Given the description of an element on the screen output the (x, y) to click on. 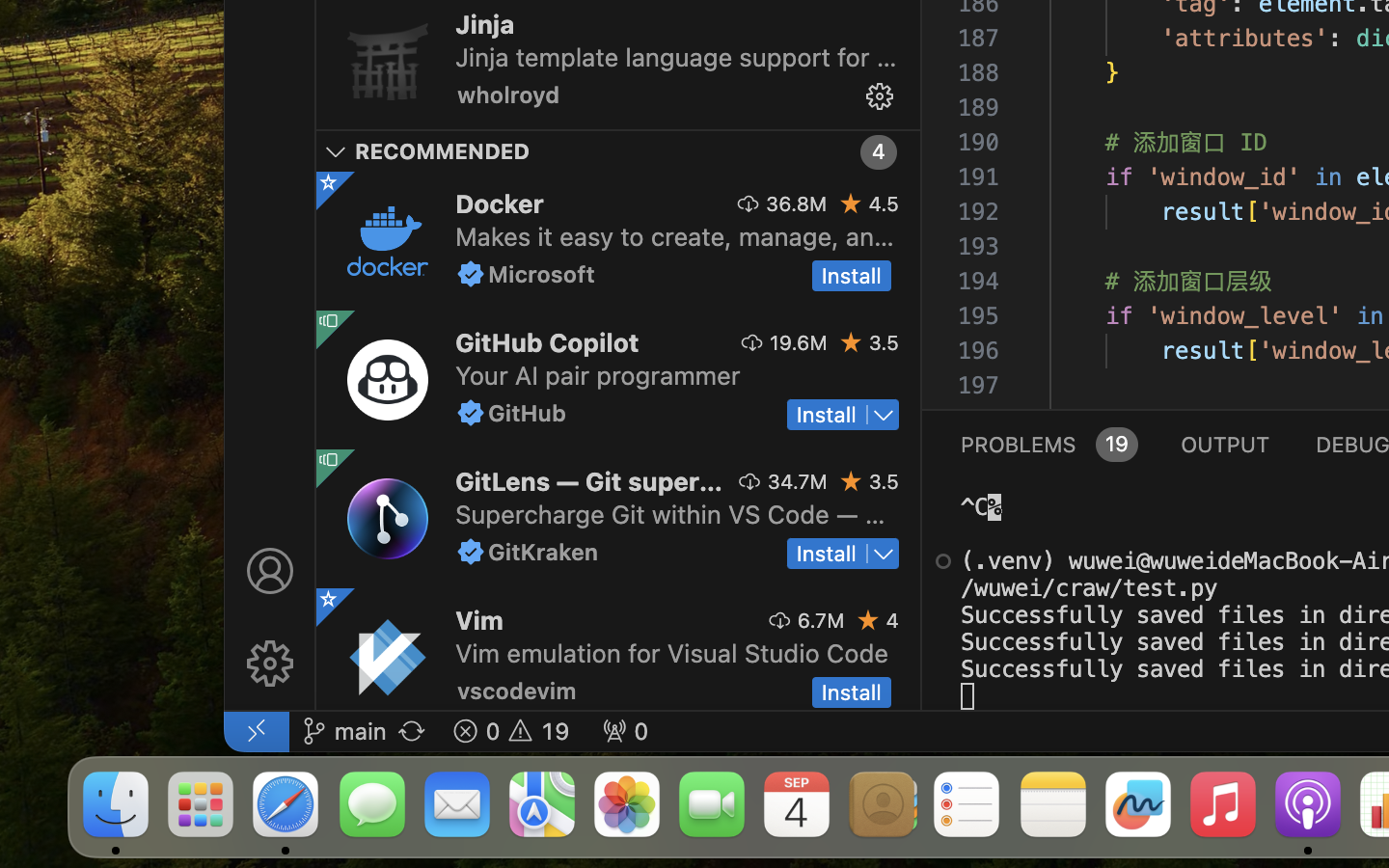
4.5 Element type: AXStaticText (883, 203)
34.7M Element type: AXStaticText (797, 480)
 Element type: AXStaticText (328, 459)
Jinja Element type: AXStaticText (485, 23)
 Element type: AXStaticText (335, 151)
